Given the description of an element on the screen output the (x, y) to click on. 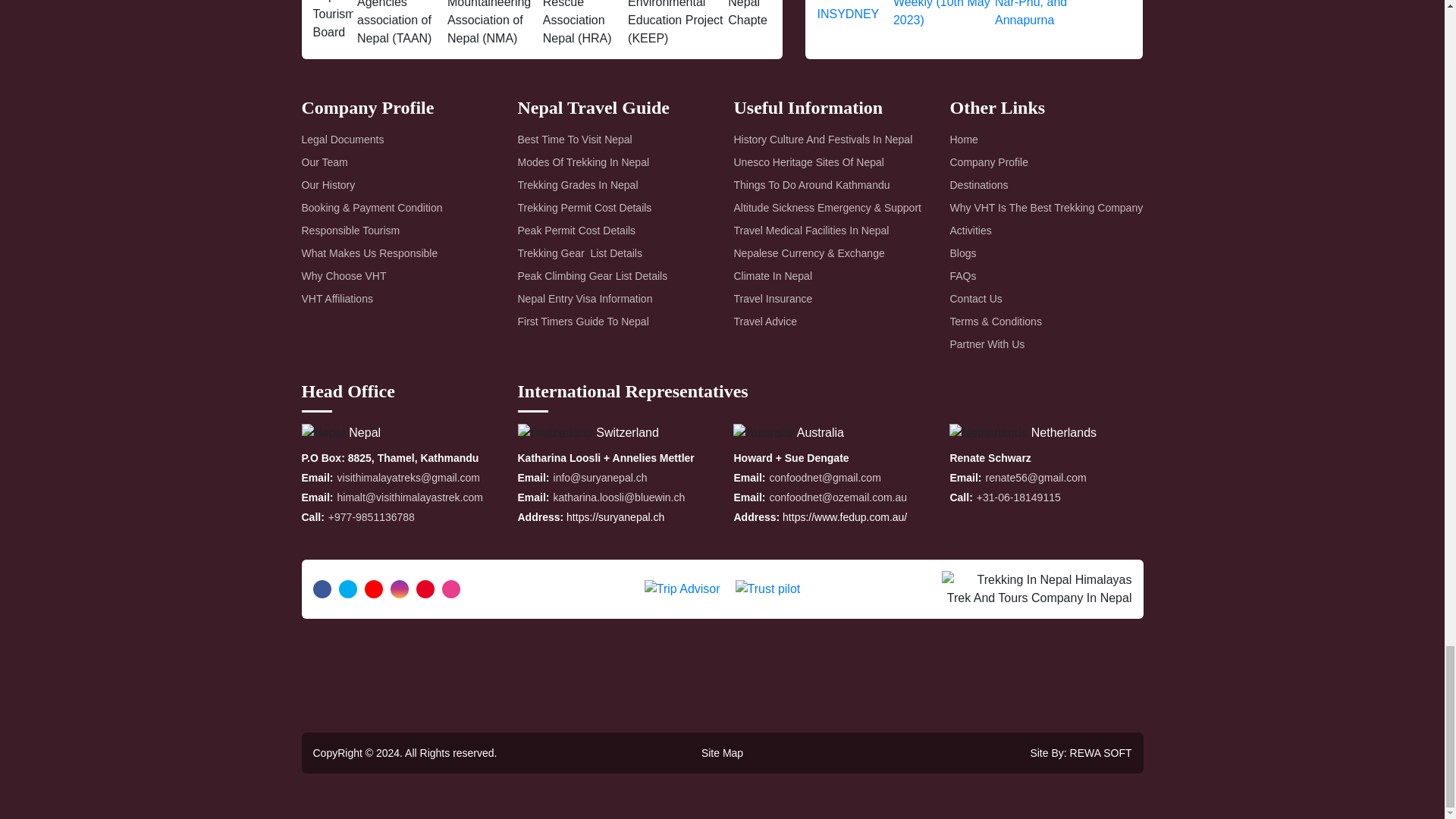
Twitter (346, 588)
Plickr (450, 588)
Trust Pilot (767, 588)
Trip Advisor (682, 588)
Youtube (372, 588)
Facebook (321, 588)
Instagram (398, 588)
Pinterest (423, 588)
